Given the description of an element on the screen output the (x, y) to click on. 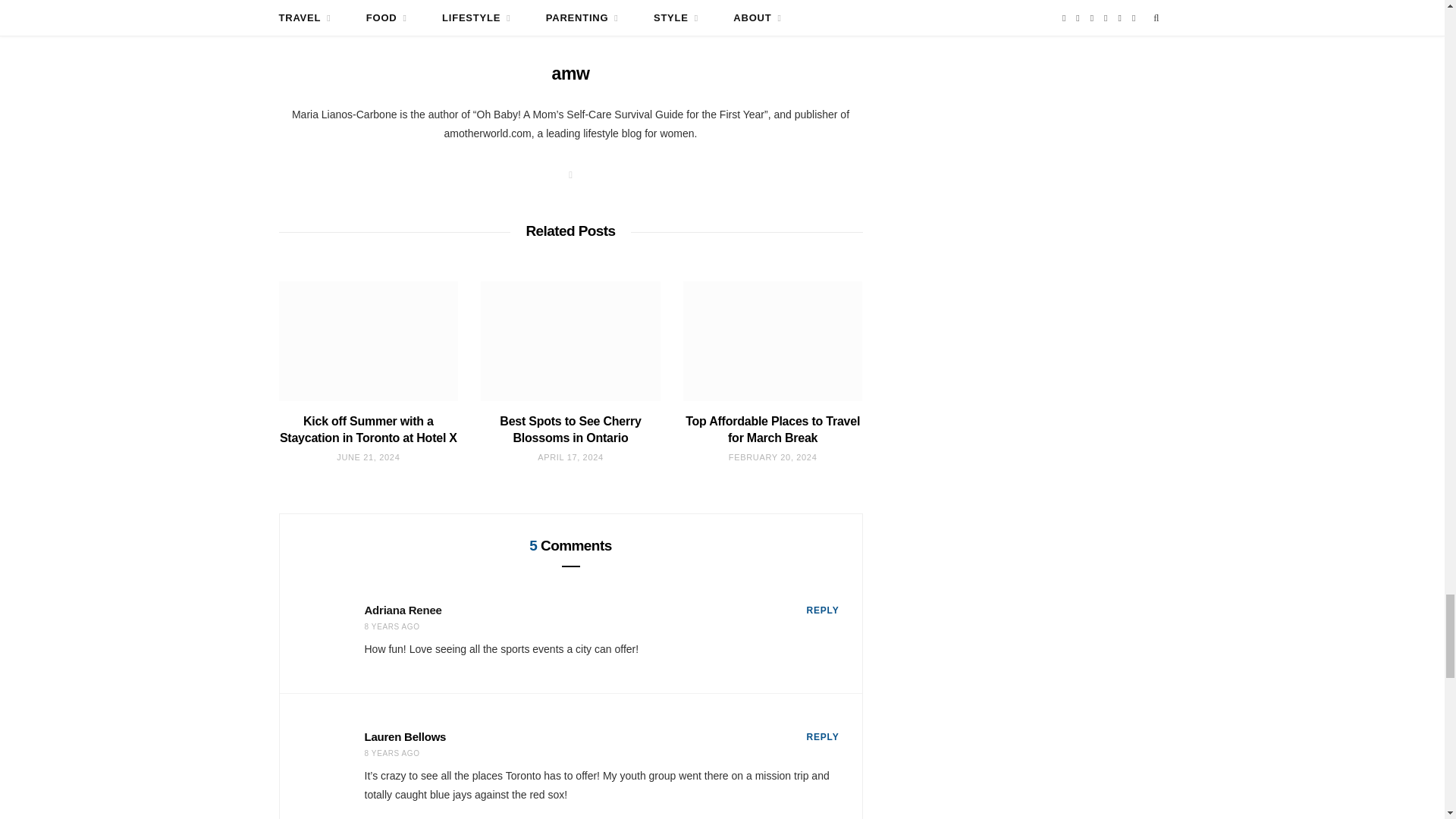
Kick off Summer with a Staycation in Toronto at Hotel X (368, 341)
Posts by amw (570, 73)
